Given the description of an element on the screen output the (x, y) to click on. 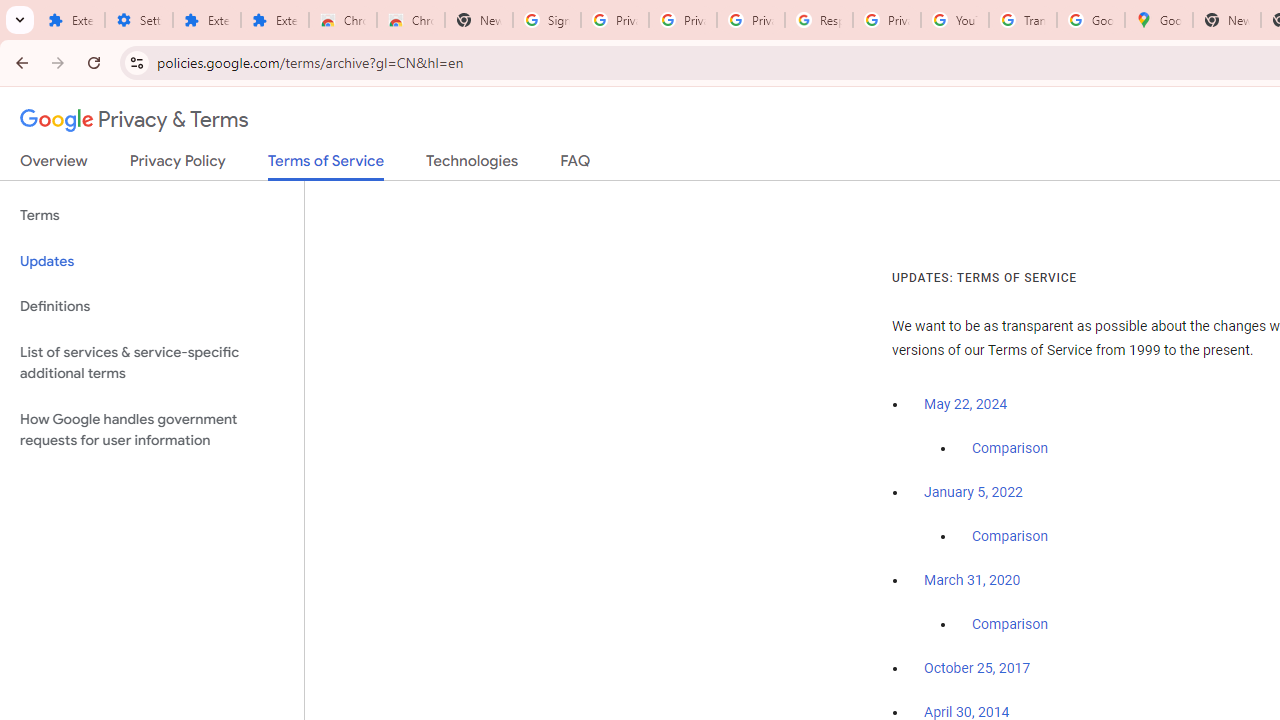
Chrome Web Store - Themes (411, 20)
Sign in - Google Accounts (547, 20)
YouTube (954, 20)
New Tab (479, 20)
Google Maps (1158, 20)
March 31, 2020 (972, 580)
